Given the description of an element on the screen output the (x, y) to click on. 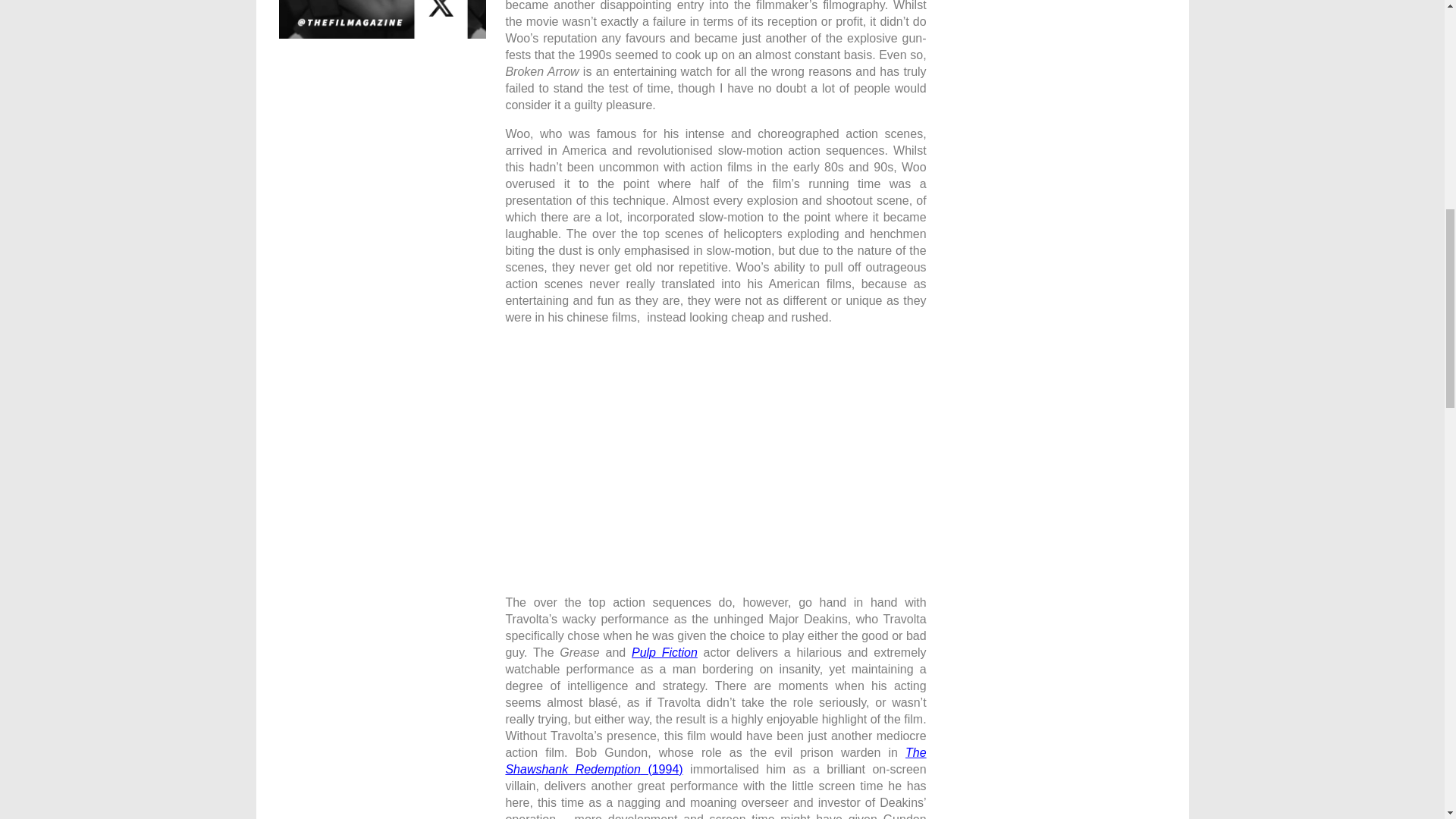
Pulp Fiction (664, 652)
